Given the description of an element on the screen output the (x, y) to click on. 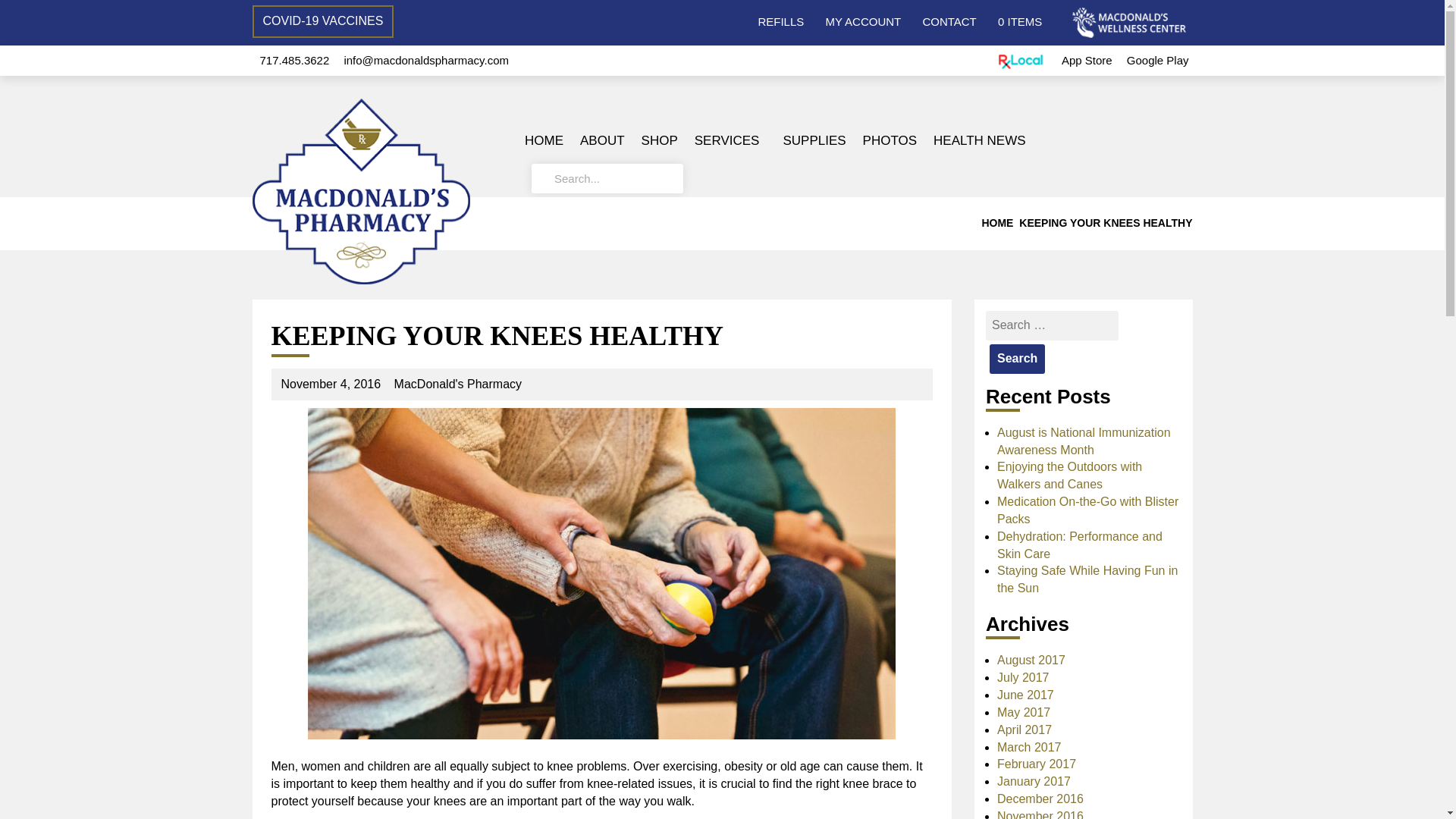
App Store (1086, 60)
SHOP (660, 140)
HOME (543, 140)
SERVICES (730, 140)
View your shopping cart (1019, 21)
CONTACT (948, 21)
Search (1017, 358)
COVID-19 VACCINES (322, 20)
ABOUT (601, 140)
717.485.3622 (294, 60)
